Given the description of an element on the screen output the (x, y) to click on. 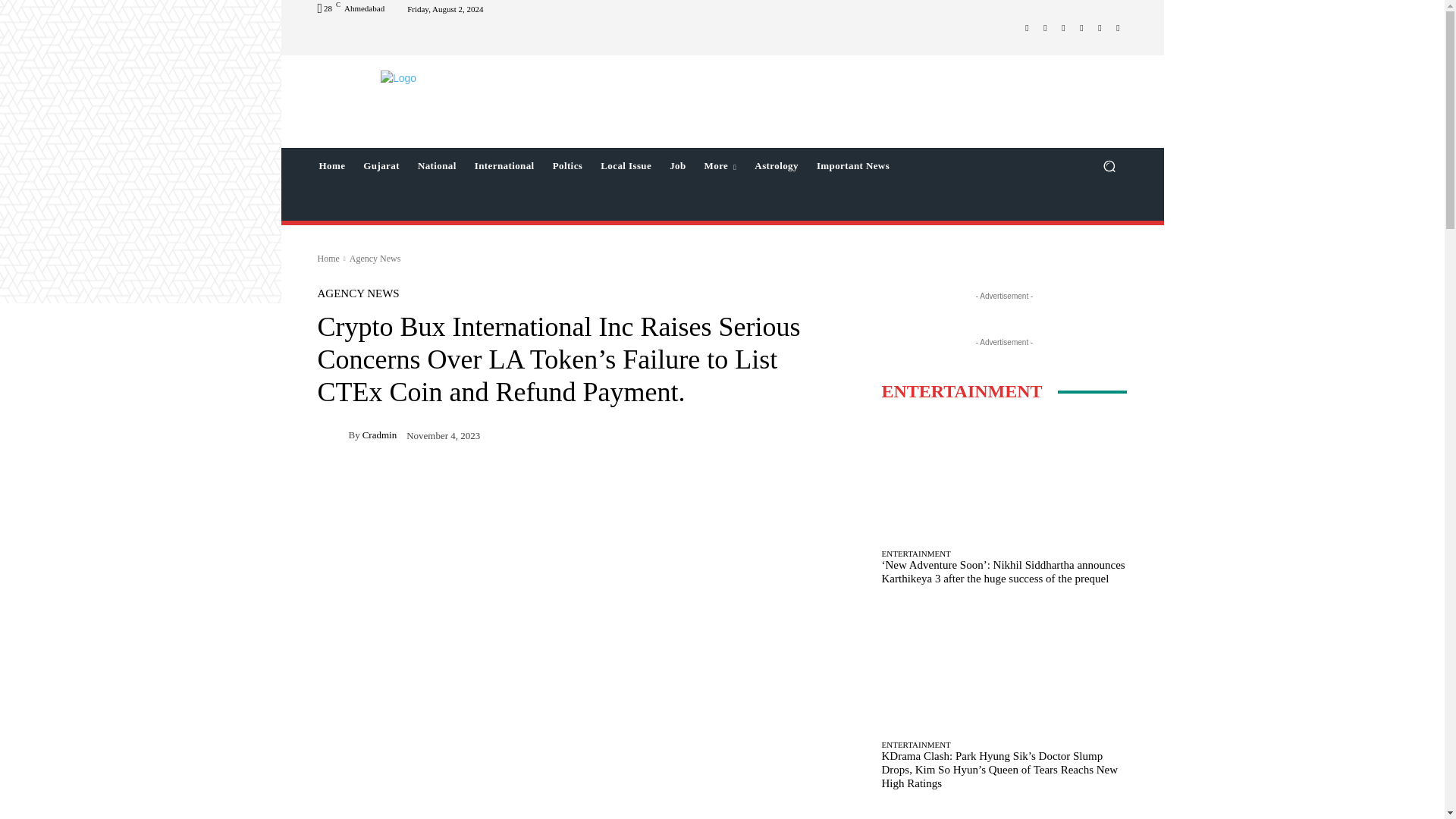
Mail (1062, 27)
Instagram (1044, 27)
Twitter (1080, 27)
WhatsApp (1099, 27)
Facebook (1026, 27)
Youtube (1117, 27)
